Given the description of an element on the screen output the (x, y) to click on. 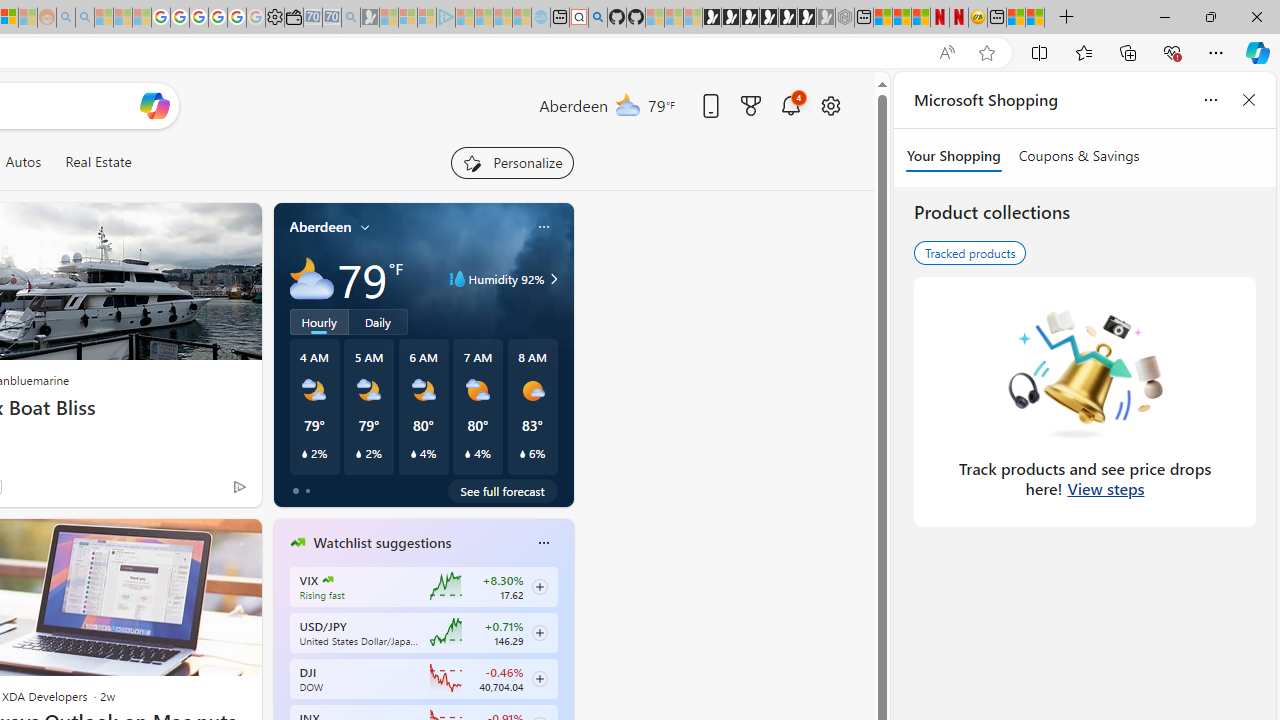
Real Estate (97, 162)
Utah sues federal government - Search - Sleeping (84, 17)
Cheap Car Rentals - Save70.com - Sleeping (331, 17)
My location (365, 227)
Personalize your feed" (511, 162)
Open Copilot (155, 105)
See full forecast (502, 490)
